Given the description of an element on the screen output the (x, y) to click on. 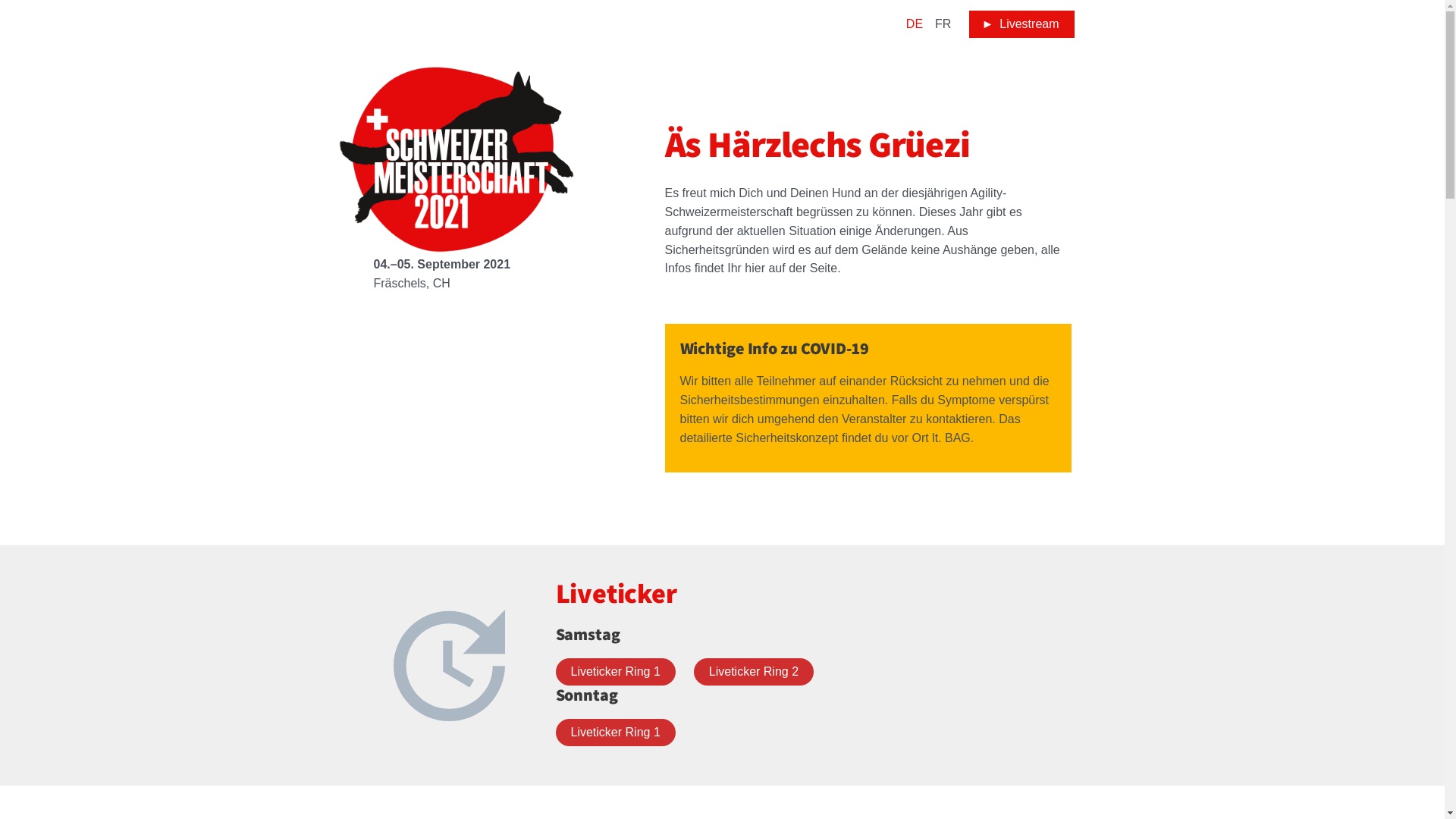
Liveticker Ring 2 Element type: text (753, 671)
DE Element type: text (914, 24)
Liveticker Ring 1 Element type: text (614, 732)
Livestream Element type: text (1021, 23)
Liveticker Ring 1 Element type: text (614, 671)
FR Element type: text (942, 24)
